Given the description of an element on the screen output the (x, y) to click on. 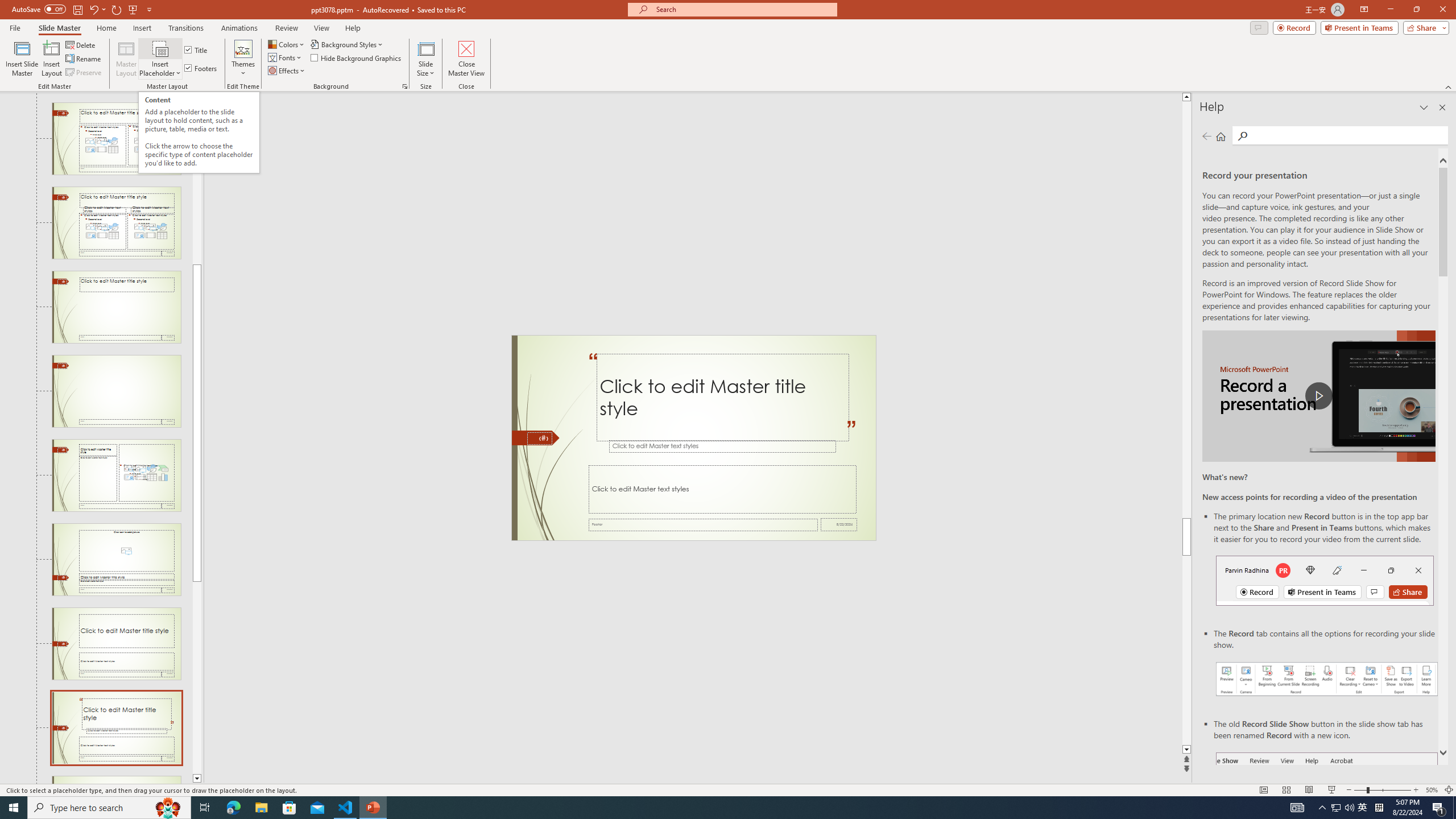
Fonts (285, 56)
Colors (287, 44)
Insert Layout (51, 58)
Date (839, 524)
Content (160, 48)
